Given the description of an element on the screen output the (x, y) to click on. 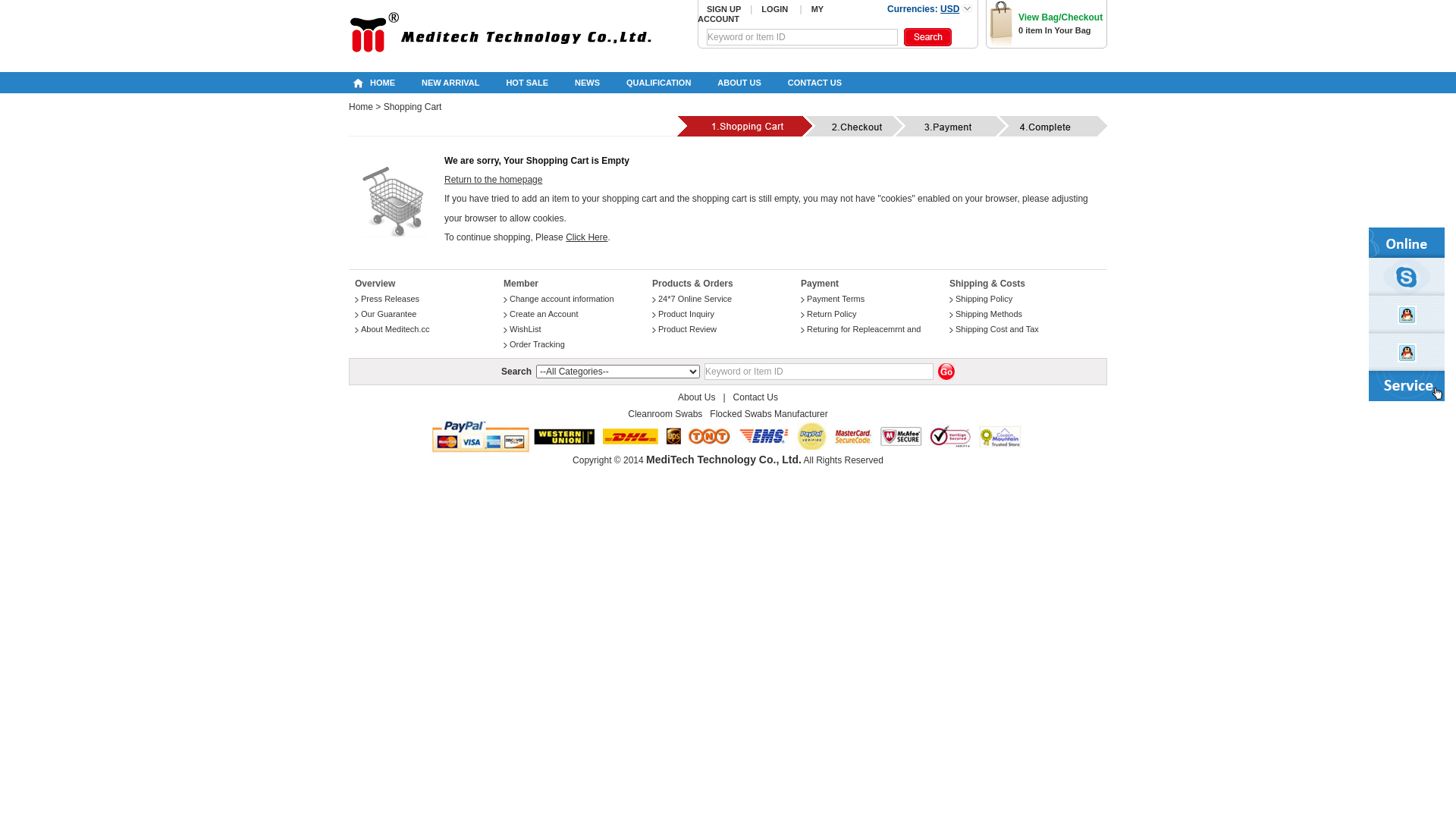
Currencies: USD  Element type: text (925, 10)
Contact Us Element type: text (755, 397)
QUALIFICATION Element type: text (658, 82)
Cleanroom Swabs Element type: text (664, 413)
Return Policy Element type: text (831, 313)
MediTech Technology Co., Ltd. Element type: text (723, 459)
Click Here Element type: text (586, 237)
SIGN UP Element type: text (723, 8)
About Us Element type: text (696, 397)
ABOUT US Element type: text (738, 82)
Shipping Policy Element type: text (983, 298)
Product Review Element type: text (687, 328)
Press Releases Element type: text (389, 298)
Payment Terms Element type: text (835, 298)
CONTACT US Element type: text (814, 82)
Returing for Repleacemrnt and Refund Element type: text (860, 336)
LOGIN Element type: text (774, 8)
WishList Element type: text (525, 328)
Product Inquiry Element type: text (686, 313)
Shipping Methods Element type: text (988, 313)
HOME Element type: text (382, 82)
HOT SALE Element type: text (526, 82)
NEW ARRIVAL Element type: text (450, 82)
Shipping Cost and Tax Element type: text (996, 328)
Flocked Swabs Manufacturer Element type: text (768, 413)
MY ACCOUNT Element type: text (760, 13)
Return to the homepage Element type: text (493, 179)
NEWS Element type: text (586, 82)
About Meditech.cc Element type: text (394, 328)
Change account information Element type: text (561, 298)
Order Tracking Element type: text (536, 343)
Create an Account Element type: text (543, 313)
Our Guarantee Element type: text (388, 313)
24*7 Online Service Element type: text (694, 298)
Home Element type: text (360, 106)
0 item In Your Bag Element type: text (1054, 29)
